Given the description of an element on the screen output the (x, y) to click on. 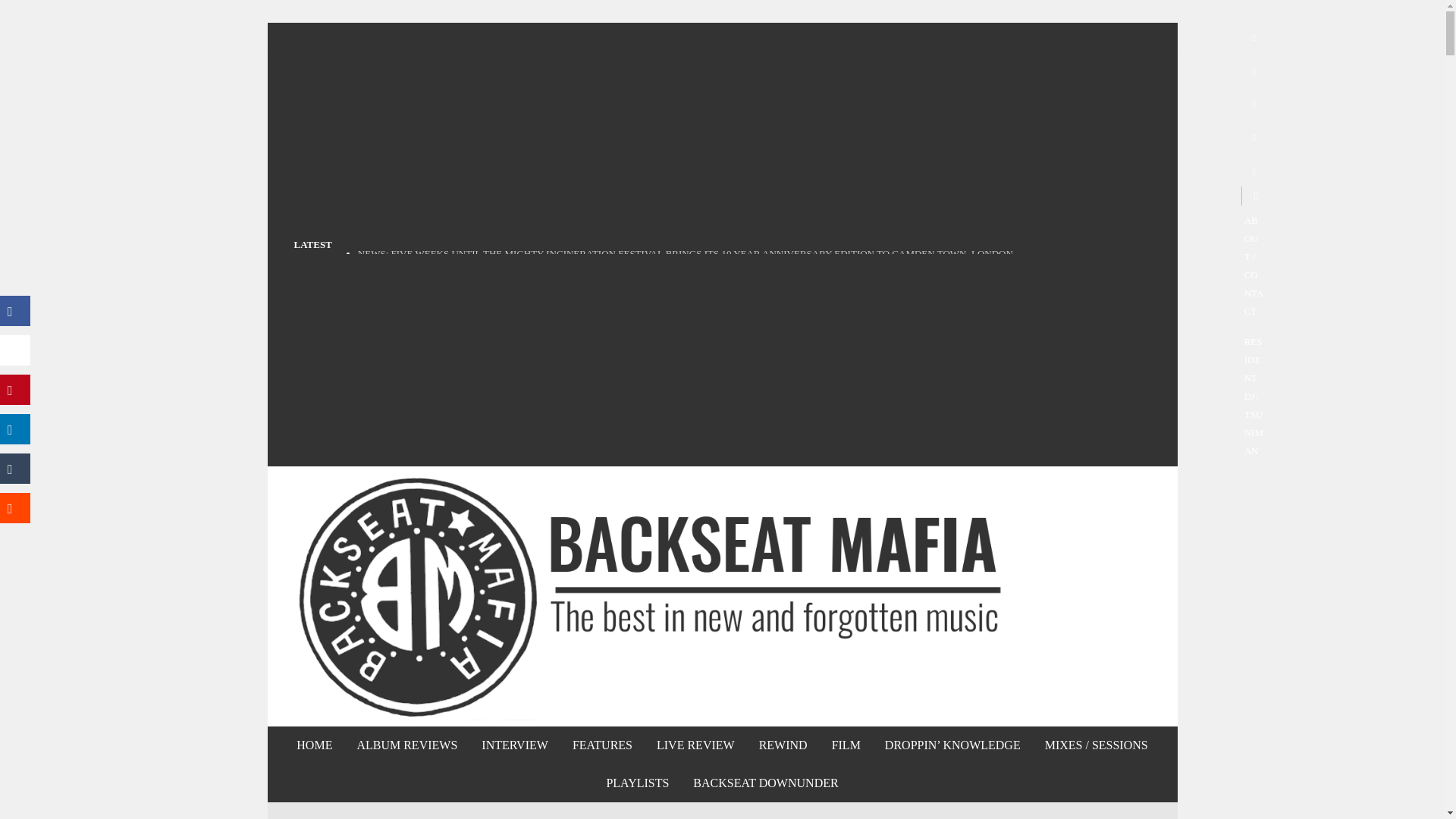
FEATURES (602, 745)
REWIND (782, 745)
ALBUM REVIEWS (405, 745)
LIVE REVIEW (695, 745)
PLAYLISTS (637, 783)
FILM (845, 745)
HOME (313, 745)
INTERVIEW (514, 745)
